Given the description of an element on the screen output the (x, y) to click on. 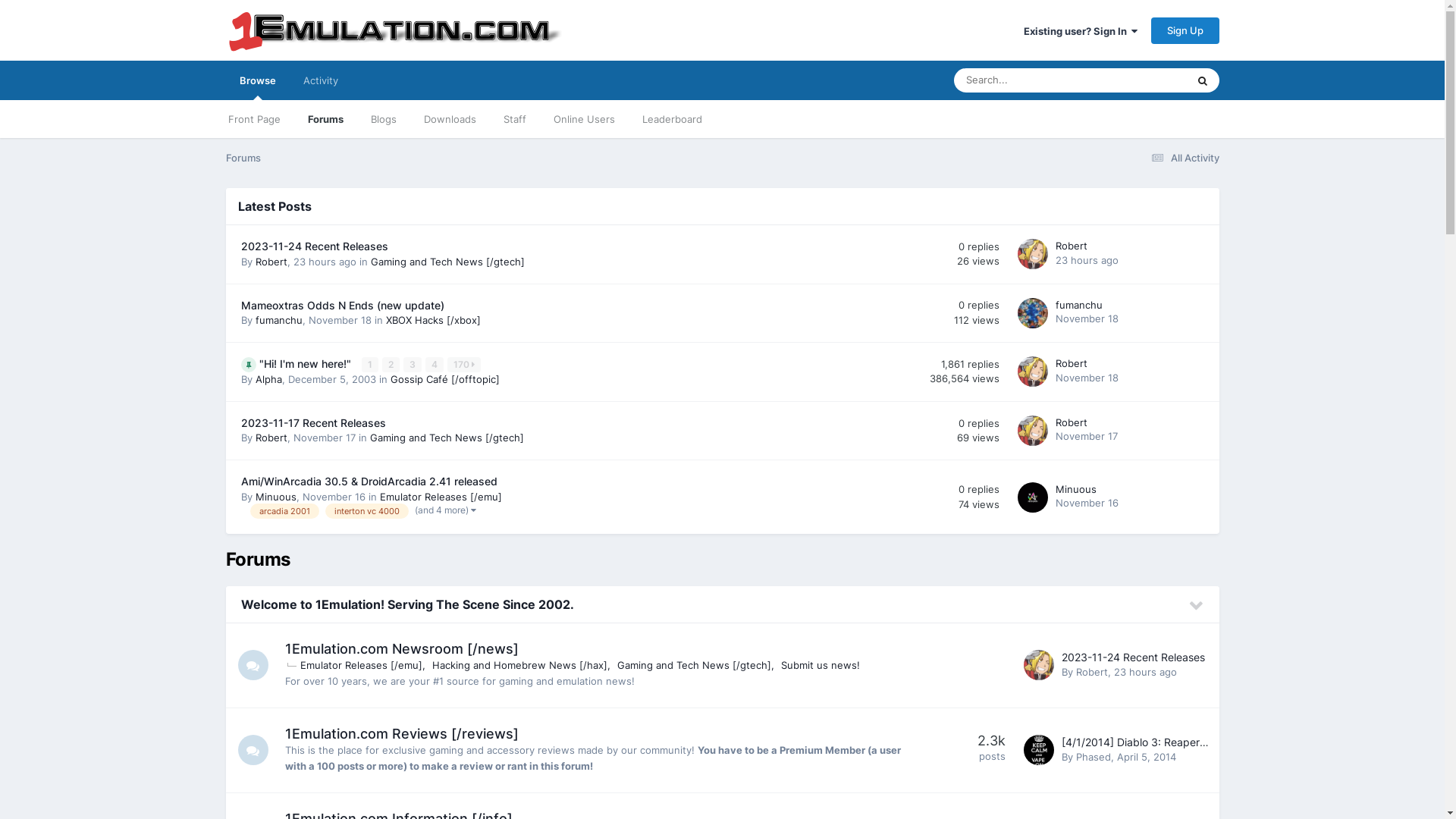
arcadia 2001 Element type: text (284, 510)
Go to Robert's profile Element type: hover (1032, 253)
1Emulation.com Newsroom [/news] Element type: text (401, 648)
Pinned Element type: hover (248, 364)
Welcome to 1Emulation! Serving The Scene Since 2002. Element type: text (407, 603)
170 Element type: text (463, 364)
Go to Robert's profile Element type: hover (1038, 664)
Phased Element type: text (1092, 756)
November 17 Element type: text (1086, 435)
2023-11-24 Recent Releases Element type: text (1132, 656)
fumanchu Element type: text (1078, 304)
Leaderboard Element type: text (671, 119)
Activity Element type: text (320, 80)
April 5, 2014 Element type: text (1145, 756)
Emulator Releases [/emu] Element type: text (362, 664)
Robert Element type: text (1071, 363)
Gaming and Tech News [/gtech] Element type: text (447, 437)
4 Element type: text (433, 364)
Gaming and Tech News [/gtech] Element type: text (695, 664)
Go to Minuous's profile Element type: hover (1032, 497)
Alpha Element type: text (267, 379)
Robert Element type: text (1091, 671)
Go to Robert's profile Element type: hover (1032, 430)
[4/1/2014] Diablo 3: Reaper of Souls Element type: text (1151, 741)
3 Element type: text (412, 364)
Hacking and Homebrew News [/hax] Element type: text (521, 664)
interton vc 4000 Element type: text (365, 510)
November 18 Element type: text (1086, 318)
Emulator Releases [/emu] Element type: text (440, 496)
Mameoxtras Odds N Ends (new update) Element type: text (342, 305)
2 Element type: text (390, 364)
Go to fumanchu's profile Element type: hover (1032, 313)
All Activity Element type: text (1182, 157)
2023-11-24 Recent Releases Element type: text (314, 246)
Staff Element type: text (514, 119)
Gaming and Tech News [/gtech] Element type: text (447, 261)
November 16 Element type: text (1086, 502)
Existing user? Sign In   Element type: text (1080, 31)
1Emulation.com Reviews [/reviews] Element type: text (401, 732)
Forums Element type: text (242, 157)
1 Element type: text (368, 364)
Submit us news! Element type: text (820, 664)
Toggle this category Element type: hover (1196, 605)
XBOX Hacks [/xbox] Element type: text (432, 319)
Go to Phased's profile Element type: hover (1038, 749)
Downloads Element type: text (449, 119)
Sign Up Element type: text (1185, 29)
fumanchu Element type: text (277, 319)
Minuous Element type: text (274, 496)
Robert Element type: text (1071, 245)
Robert Element type: text (270, 261)
23 hours ago Element type: text (1086, 260)
Robert Element type: text (1071, 422)
Ami/WinArcadia 30.5 & DroidArcadia 2.41 released Element type: text (369, 481)
Robert Element type: text (270, 437)
Online Users Element type: text (583, 119)
Browse Element type: text (257, 80)
2023-11-17 Recent Releases Element type: text (313, 423)
Minuous Element type: text (1075, 489)
"Hi! I'm new here!" Element type: text (306, 363)
Front Page Element type: text (253, 119)
Go to Robert's profile Element type: hover (1032, 371)
November 18 Element type: text (1086, 377)
23 hours ago Element type: text (1144, 671)
Forums Element type: text (325, 119)
Blogs Element type: text (382, 119)
